Given the description of an element on the screen output the (x, y) to click on. 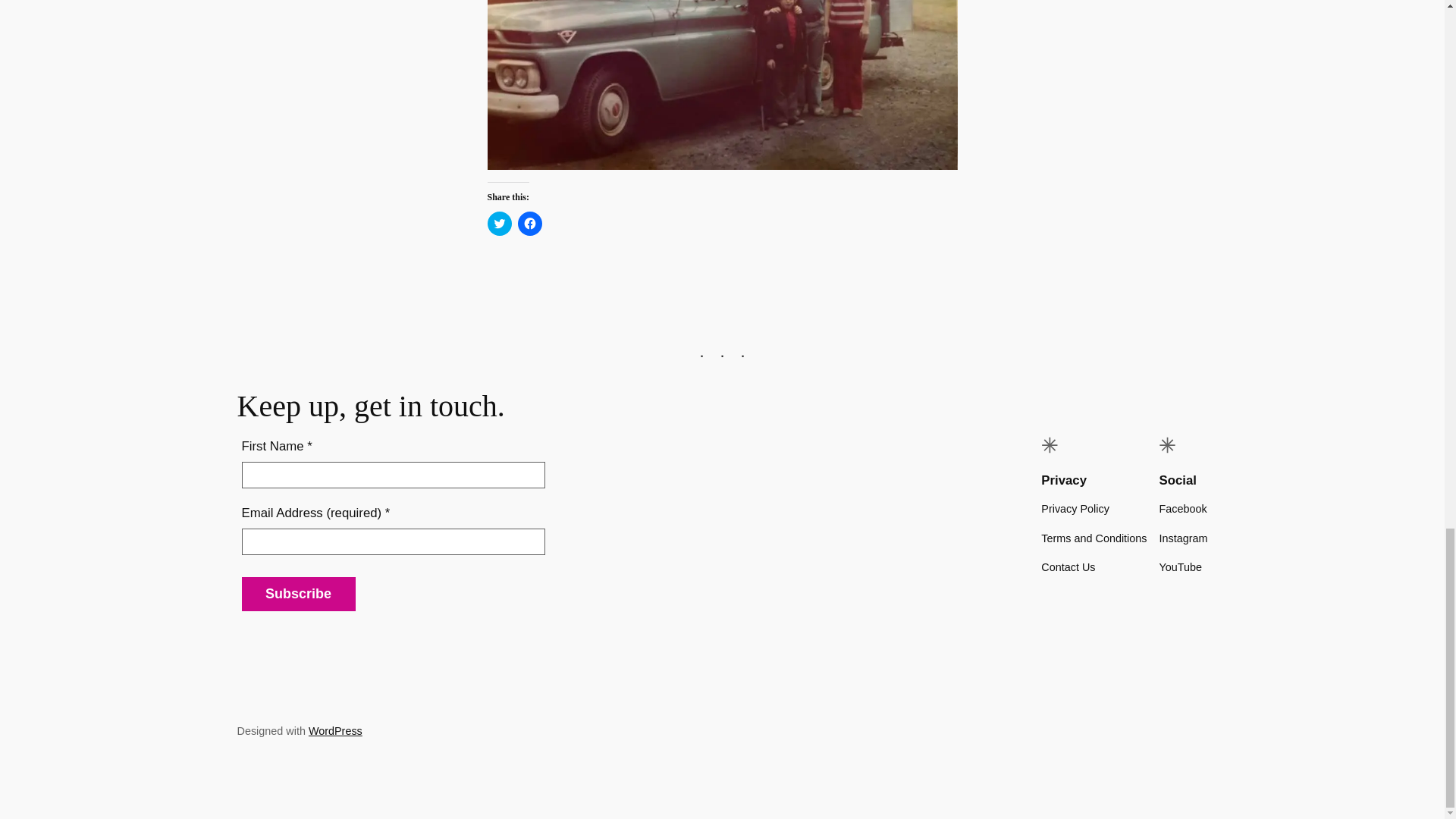
Subscribe (298, 593)
Terms and Conditions (1094, 538)
Subscribe (298, 593)
Click to share on Facebook (528, 223)
WordPress (335, 730)
Instagram (1182, 538)
Privacy Policy (1075, 508)
YouTube (1180, 566)
Contact Us (1067, 566)
Facebook (1182, 508)
